Given the description of an element on the screen output the (x, y) to click on. 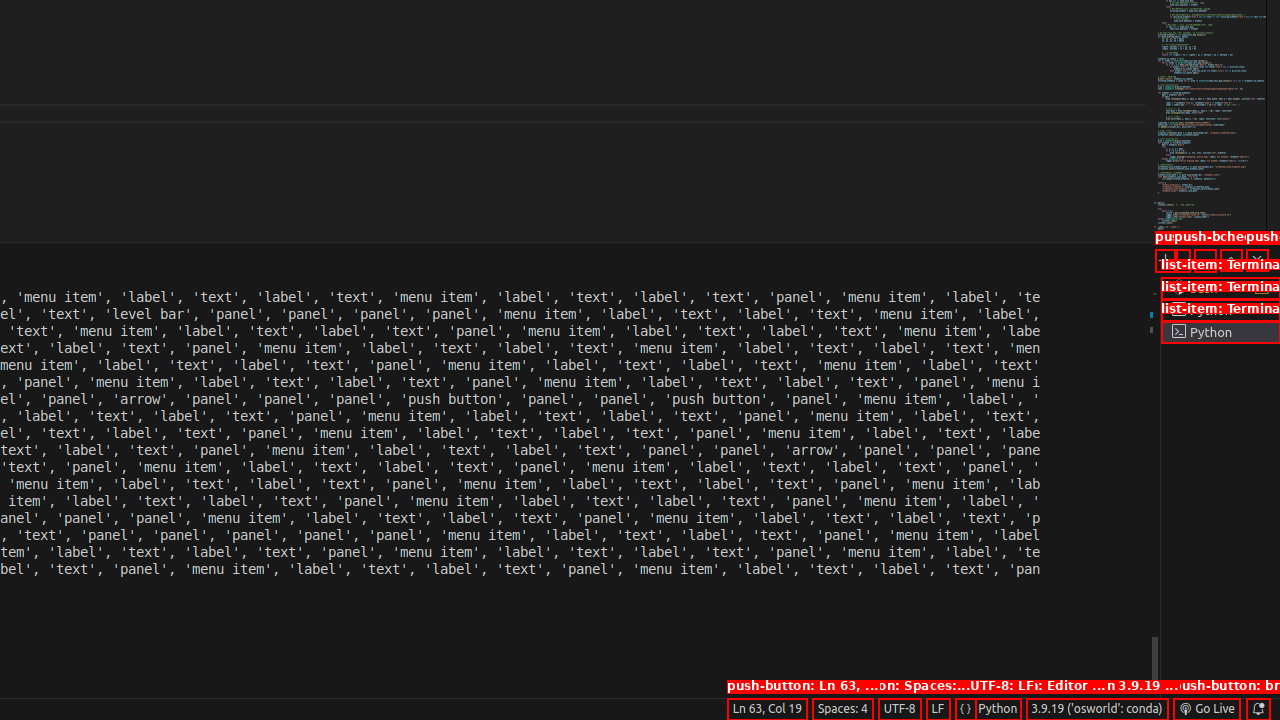
Terminal 1 bash Element type: list-item (1220, 288)
LF Element type: push-button (938, 709)
Spaces: 4 Element type: push-button (842, 709)
Notifications Element type: push-button (1258, 709)
Maximize Panel Size Element type: check-box (1231, 260)
